Given the description of an element on the screen output the (x, y) to click on. 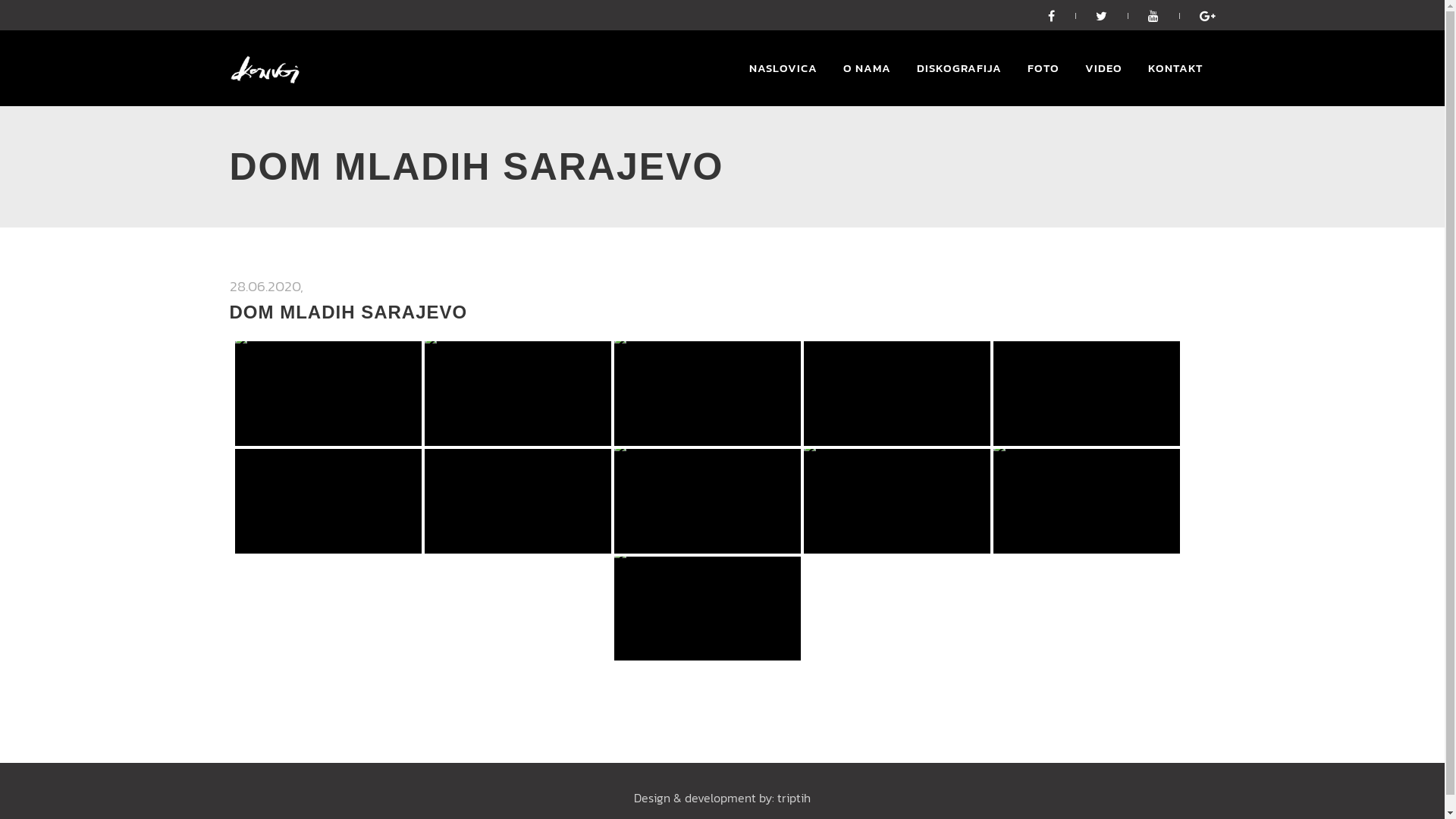
FOTO Element type: text (1043, 68)
VIDEO Element type: text (1103, 68)
Design & development by: triptih Element type: text (721, 797)
DISKOGRAFIJA Element type: text (958, 68)
KONTAKT Element type: text (1174, 68)
O NAMA Element type: text (866, 68)
NASLOVICA Element type: text (782, 68)
